Given the description of an element on the screen output the (x, y) to click on. 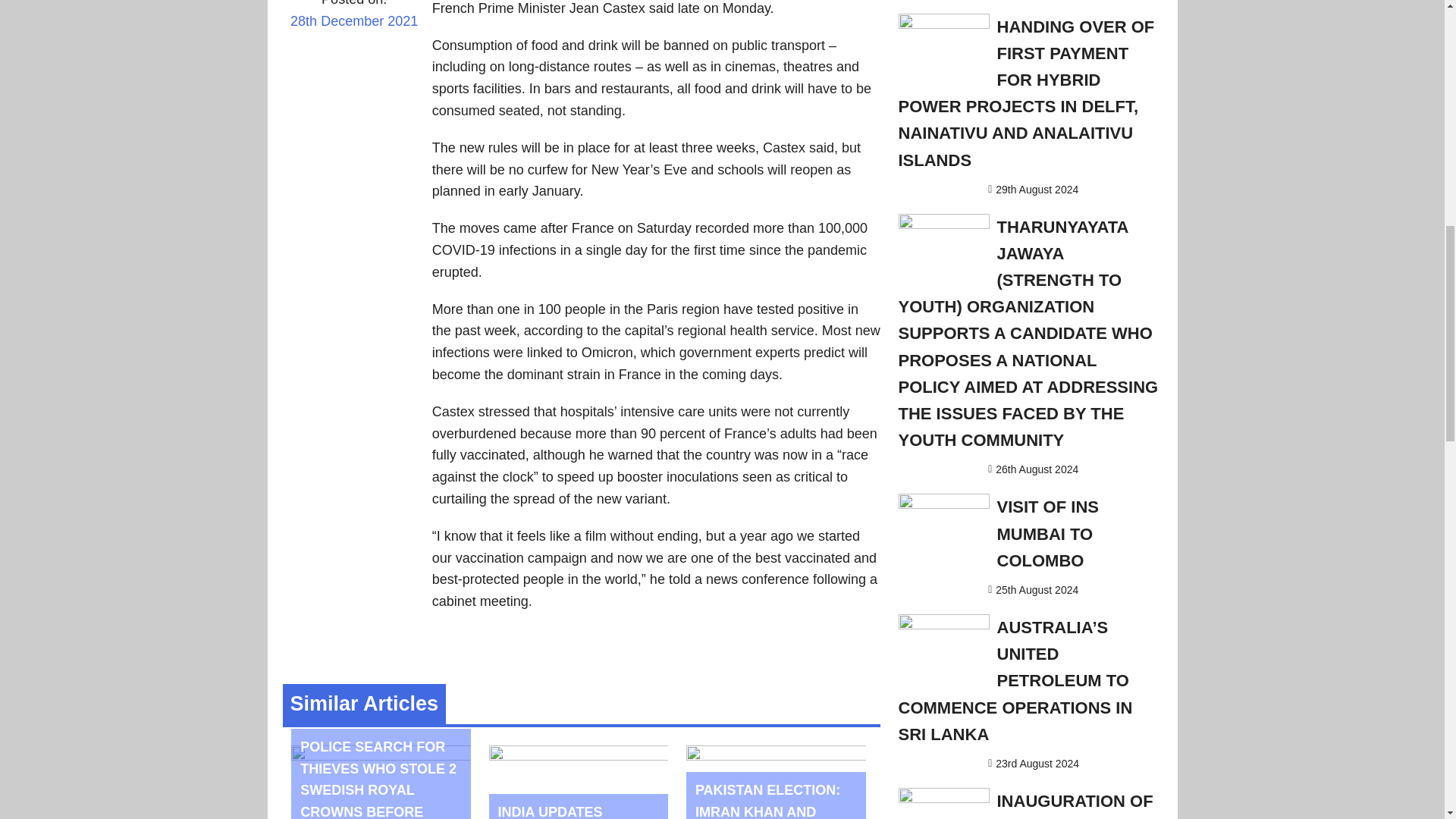
INDIA UPDATES NATIONAL REGISTER OF CITIZENS IN ASSAM (574, 811)
28th December 2021 (353, 30)
India updates National Register of Citizens in Assam (578, 755)
India updates National Register of Citizens in Assam (574, 811)
